Given the description of an element on the screen output the (x, y) to click on. 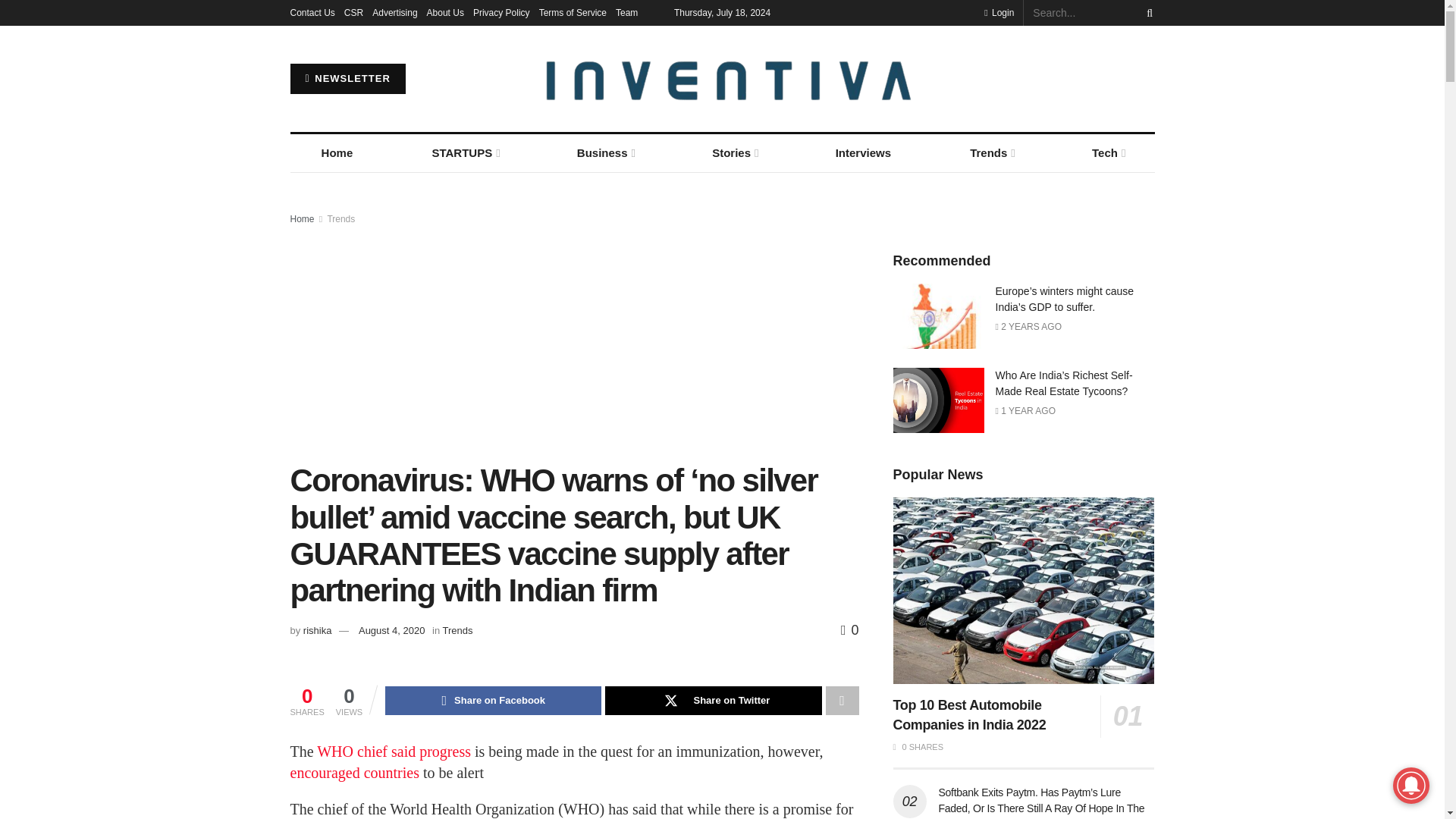
Advertisement (574, 341)
Login (998, 12)
Advertising (394, 12)
CSR (352, 12)
About Us (445, 12)
NEWSLETTER (346, 78)
Terms of Service (572, 12)
Home (336, 152)
Team (626, 12)
Contact Us (311, 12)
Privacy Policy (501, 12)
STARTUPS (464, 152)
